Given the description of an element on the screen output the (x, y) to click on. 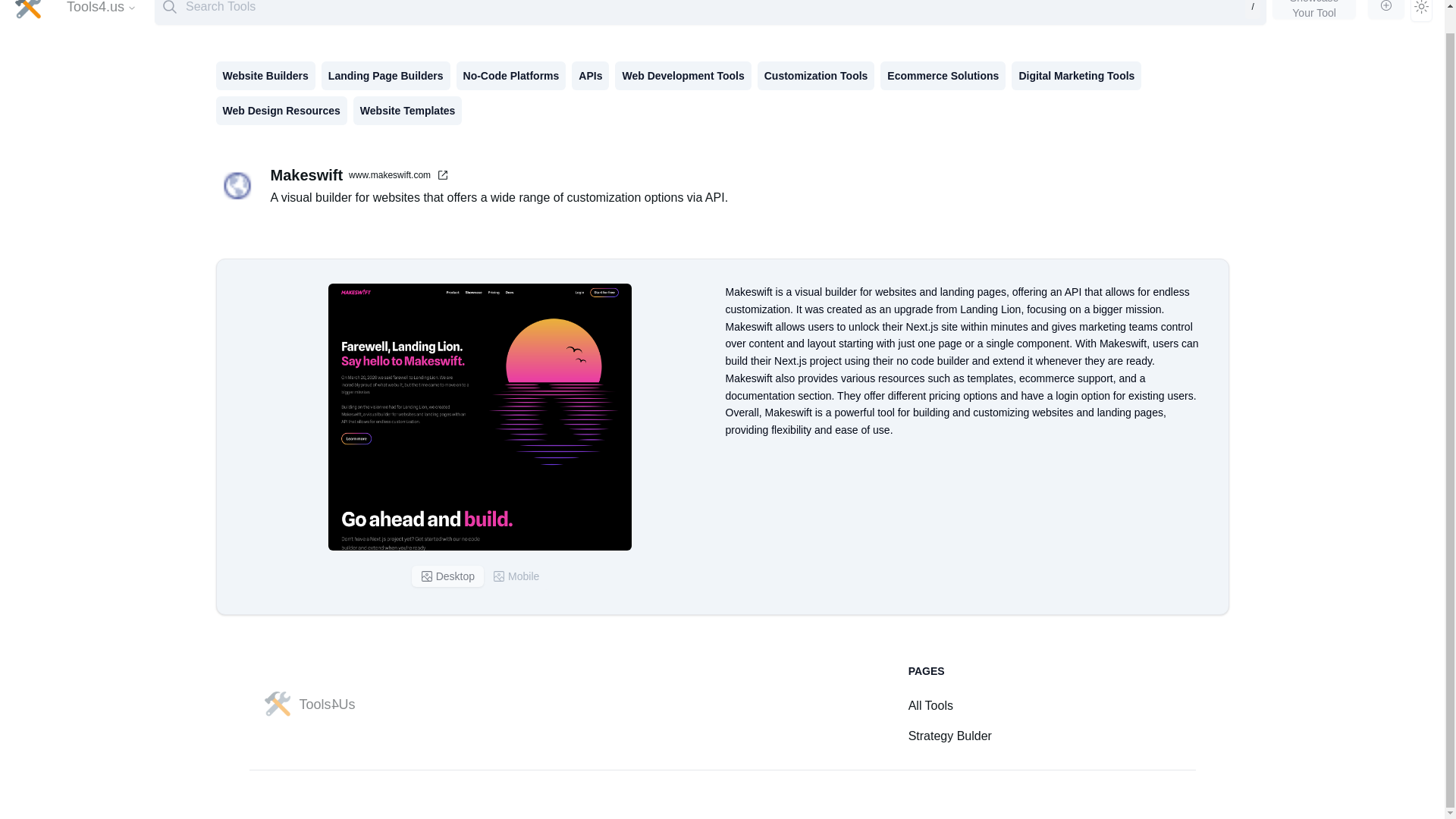
APIs (590, 75)
Desktop (447, 576)
Showcase Your Tool (1314, 9)
Showcase Your Tool (1314, 11)
Web Design Resources (280, 110)
Tools4Us (307, 704)
Ecommerce Solutions (943, 75)
All Tools (930, 705)
Tools4.us (101, 10)
Toggle theme (1421, 11)
Tools4Us (307, 704)
Digital Marketing Tools (1076, 75)
Landing Page Builders (385, 75)
Website Templates (408, 110)
www.makeswift.com (398, 174)
